Given the description of an element on the screen output the (x, y) to click on. 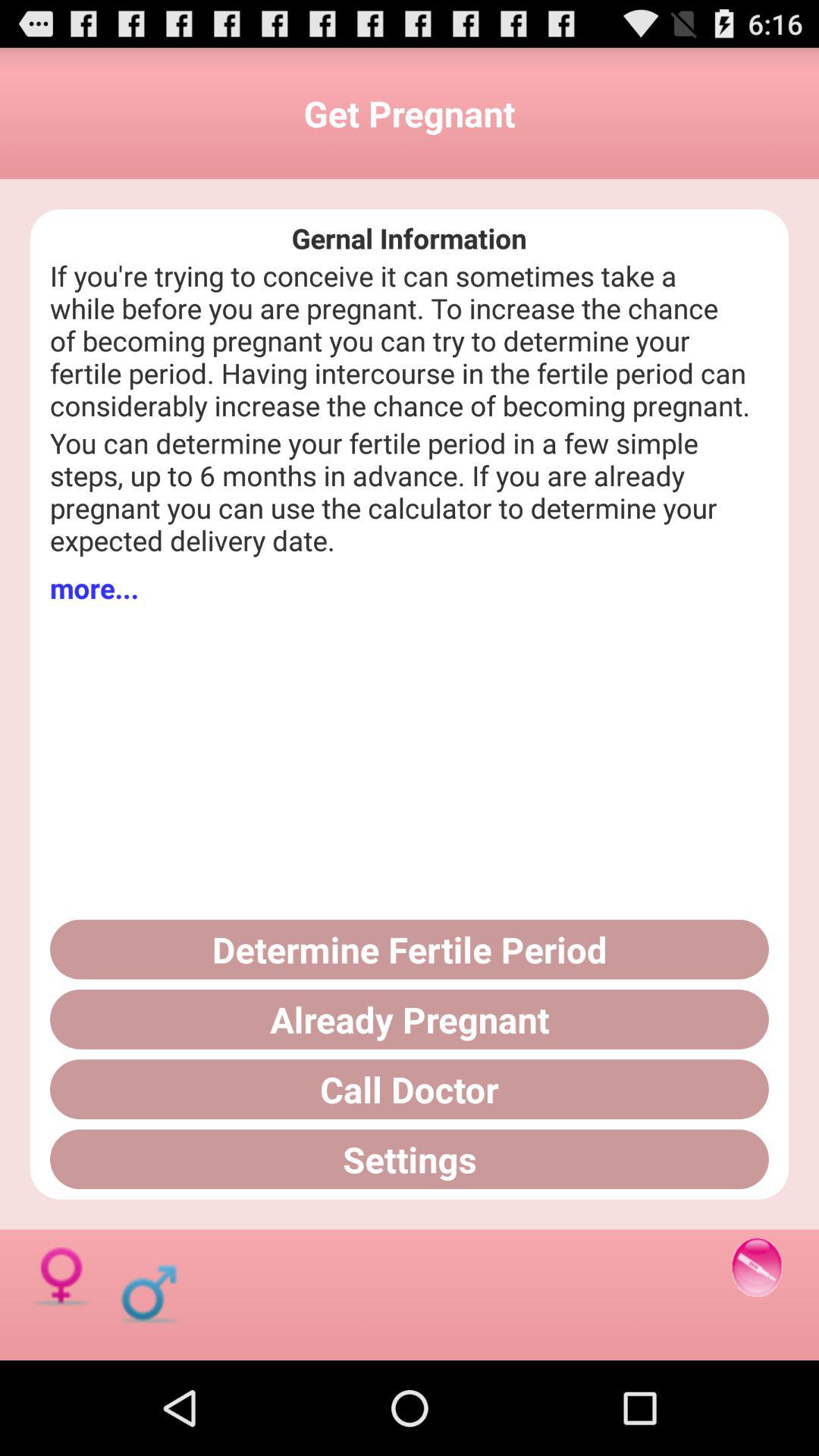
jump until settings item (409, 1159)
